Given the description of an element on the screen output the (x, y) to click on. 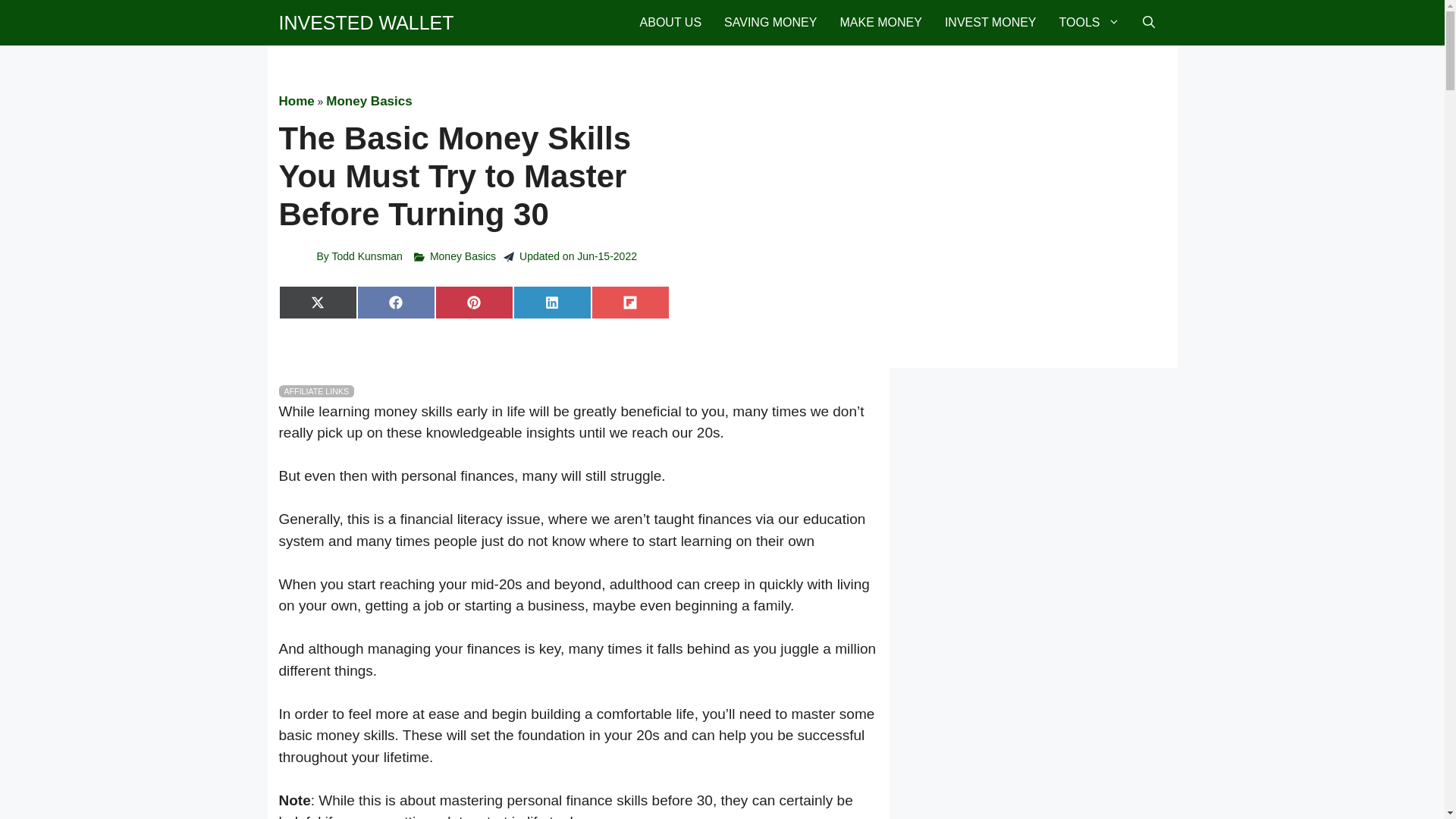
TOOLS (1089, 22)
MAKE MONEY (880, 22)
Share on LinkedIn (552, 302)
ABOUT US (670, 22)
INVEST MONEY (990, 22)
SAVING MONEY (770, 22)
Share on Pinterest (474, 302)
Money Basics (462, 256)
Home (296, 101)
INVESTED WALLET (366, 22)
